Given the description of an element on the screen output the (x, y) to click on. 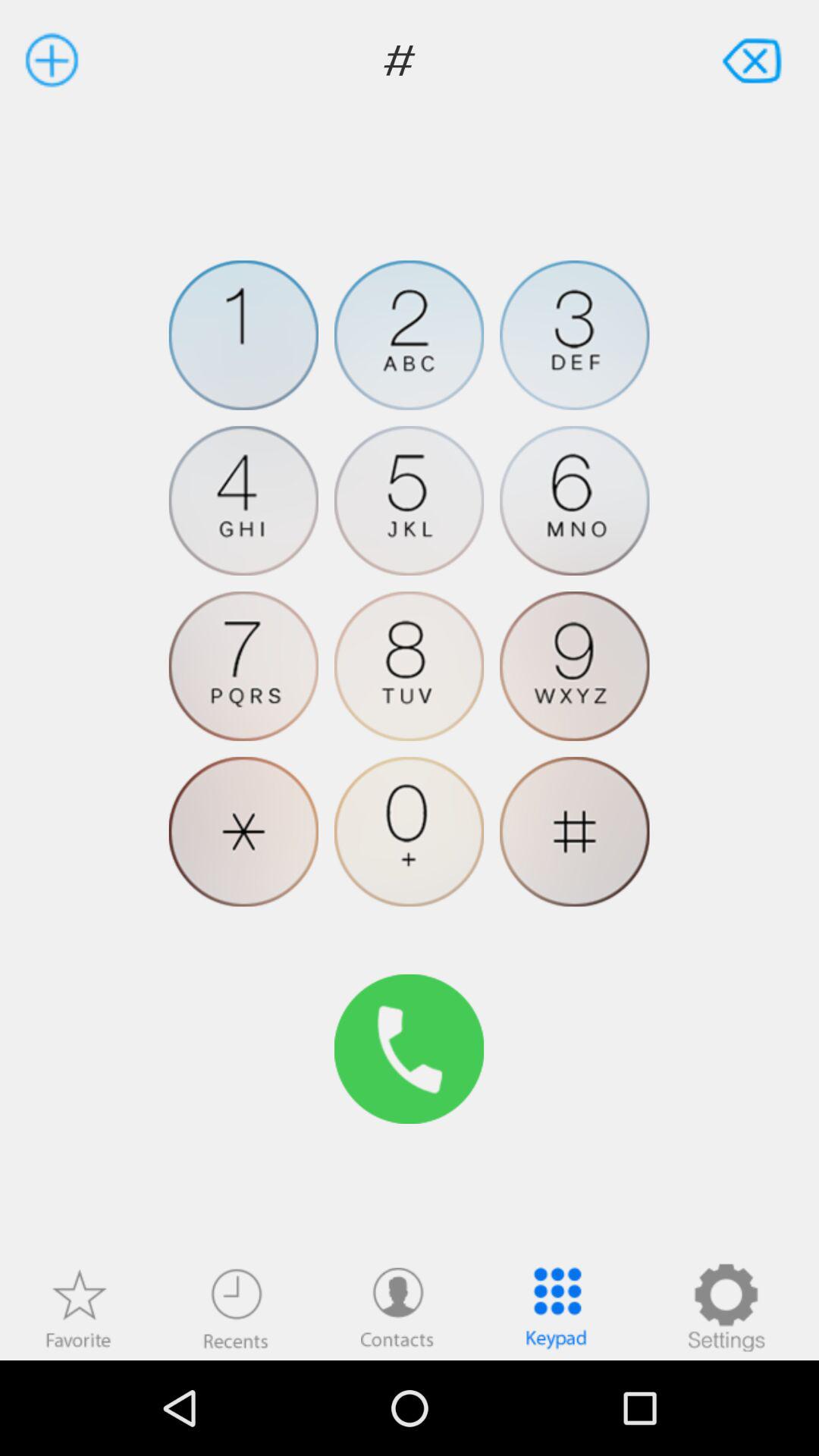
zero button (409, 831)
